Given the description of an element on the screen output the (x, y) to click on. 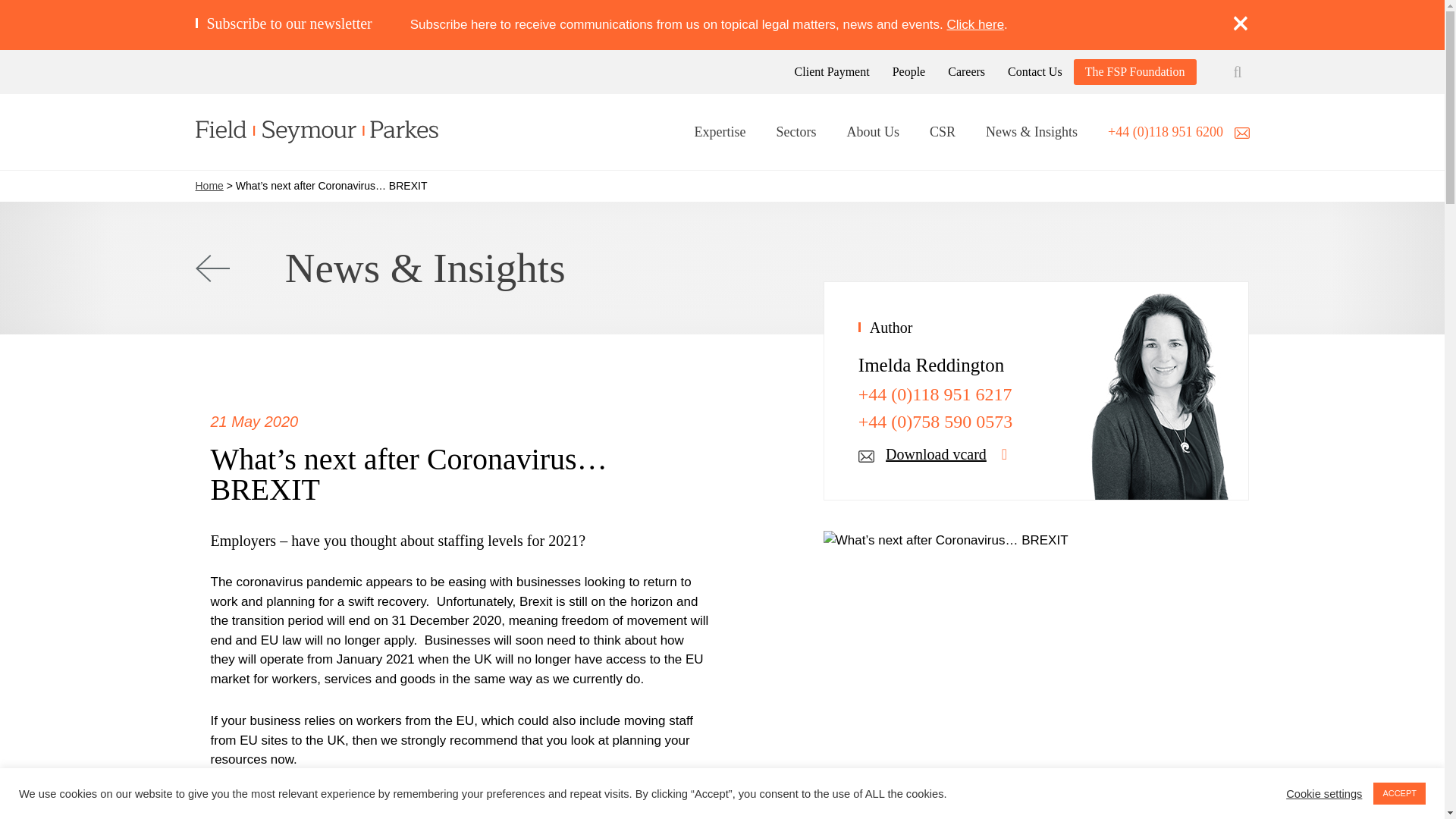
The FSP Foundation (1134, 72)
Expertise (719, 133)
Client Payment (831, 71)
Expertise (719, 133)
Careers (966, 71)
Sectors (795, 133)
People (909, 71)
Contact Us (1034, 71)
Click here (975, 24)
